Given the description of an element on the screen output the (x, y) to click on. 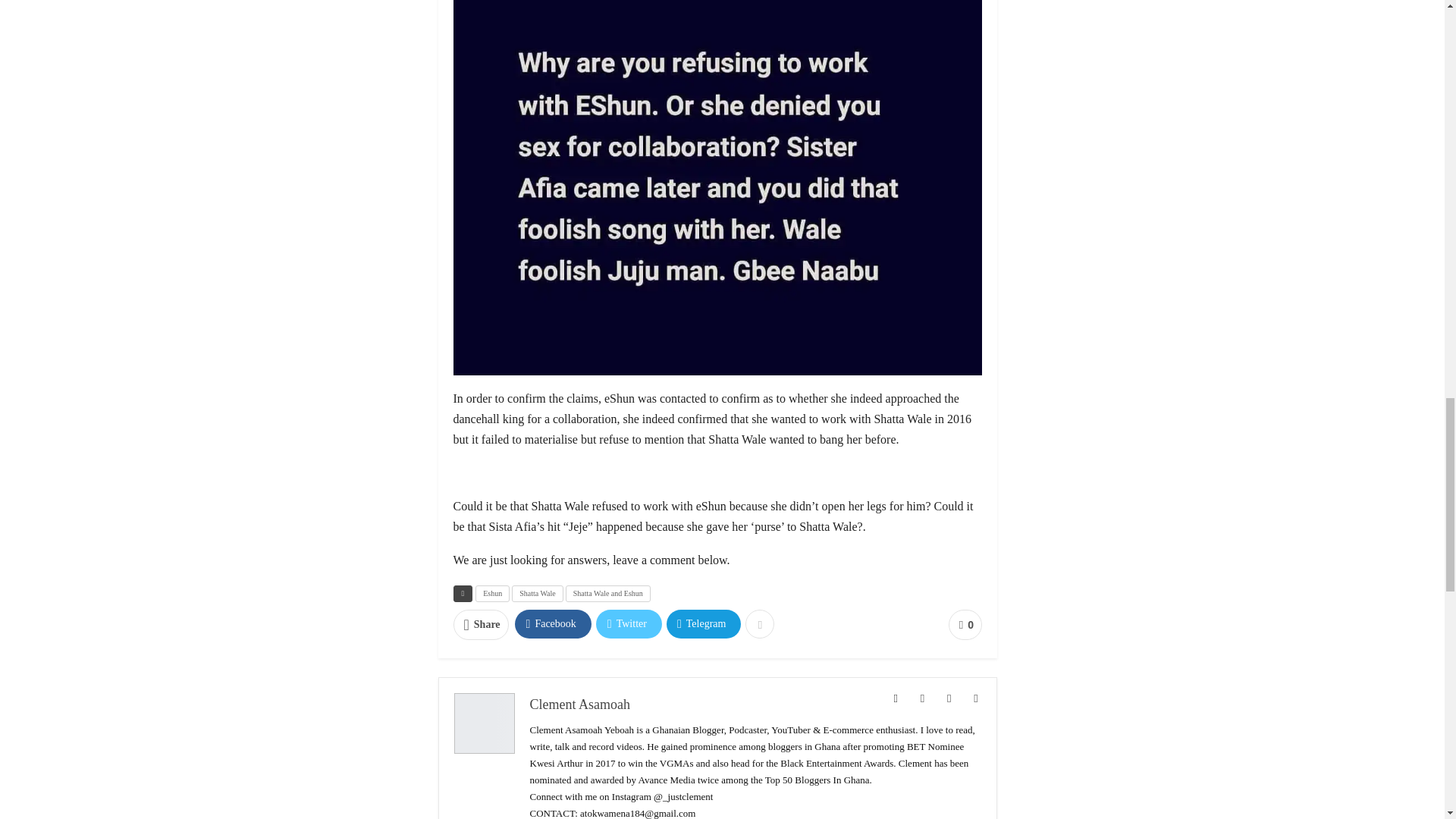
Eshun (492, 593)
Shatta Wale and Eshun (608, 593)
Facebook (553, 623)
Shatta Wale (537, 593)
Telegram (703, 623)
Twitter (628, 623)
Clement Asamoah (578, 703)
0 (965, 624)
